Given the description of an element on the screen output the (x, y) to click on. 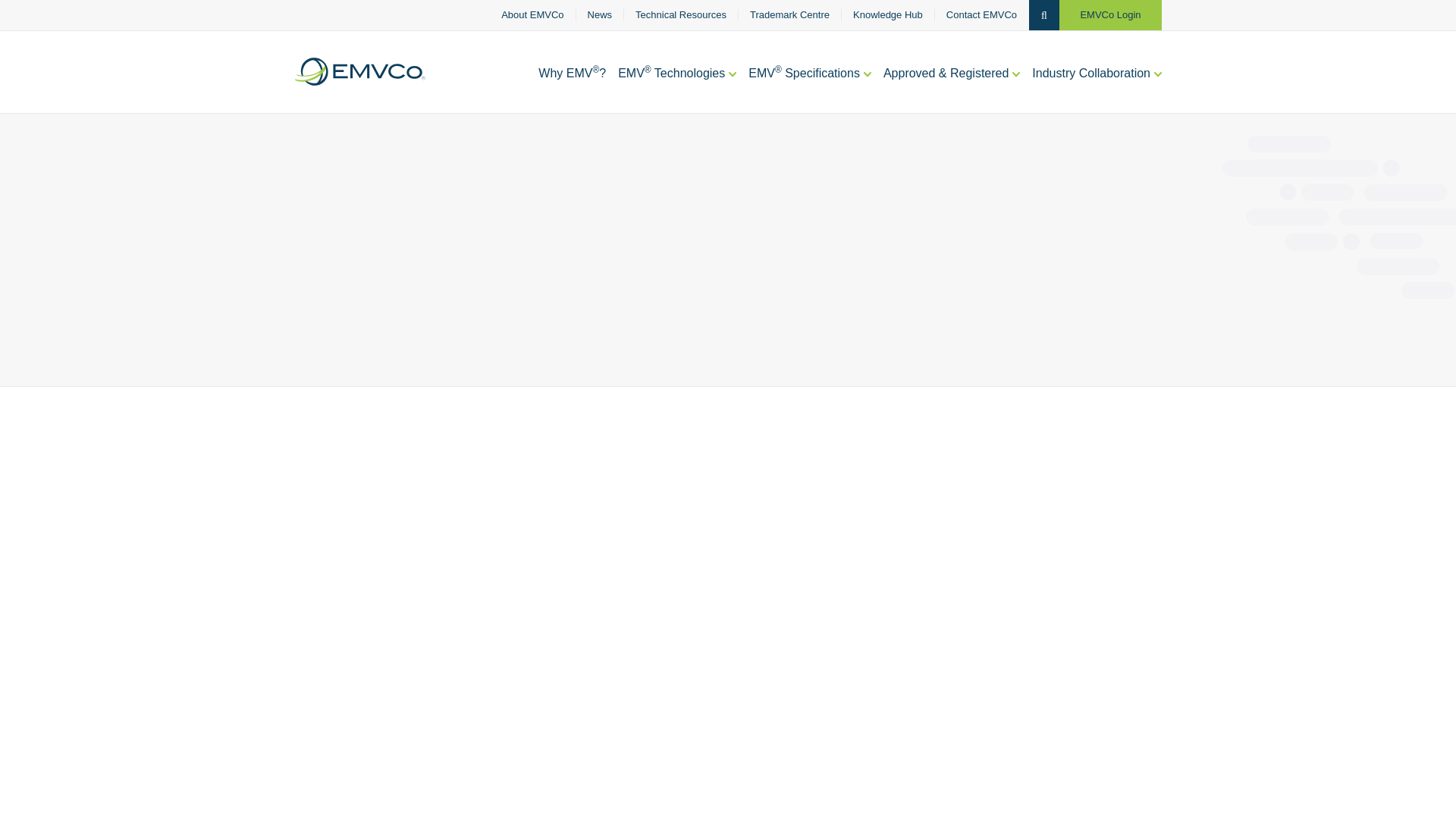
Contact EMVCo (981, 15)
EMVCo Logo (360, 71)
EMVCo Login (1110, 15)
About EMVCo (531, 15)
News (600, 15)
Knowledge Hub (888, 15)
Industry Collaboration (1096, 89)
Trademark Centre (789, 15)
Technical Resources (680, 15)
